Given the description of an element on the screen output the (x, y) to click on. 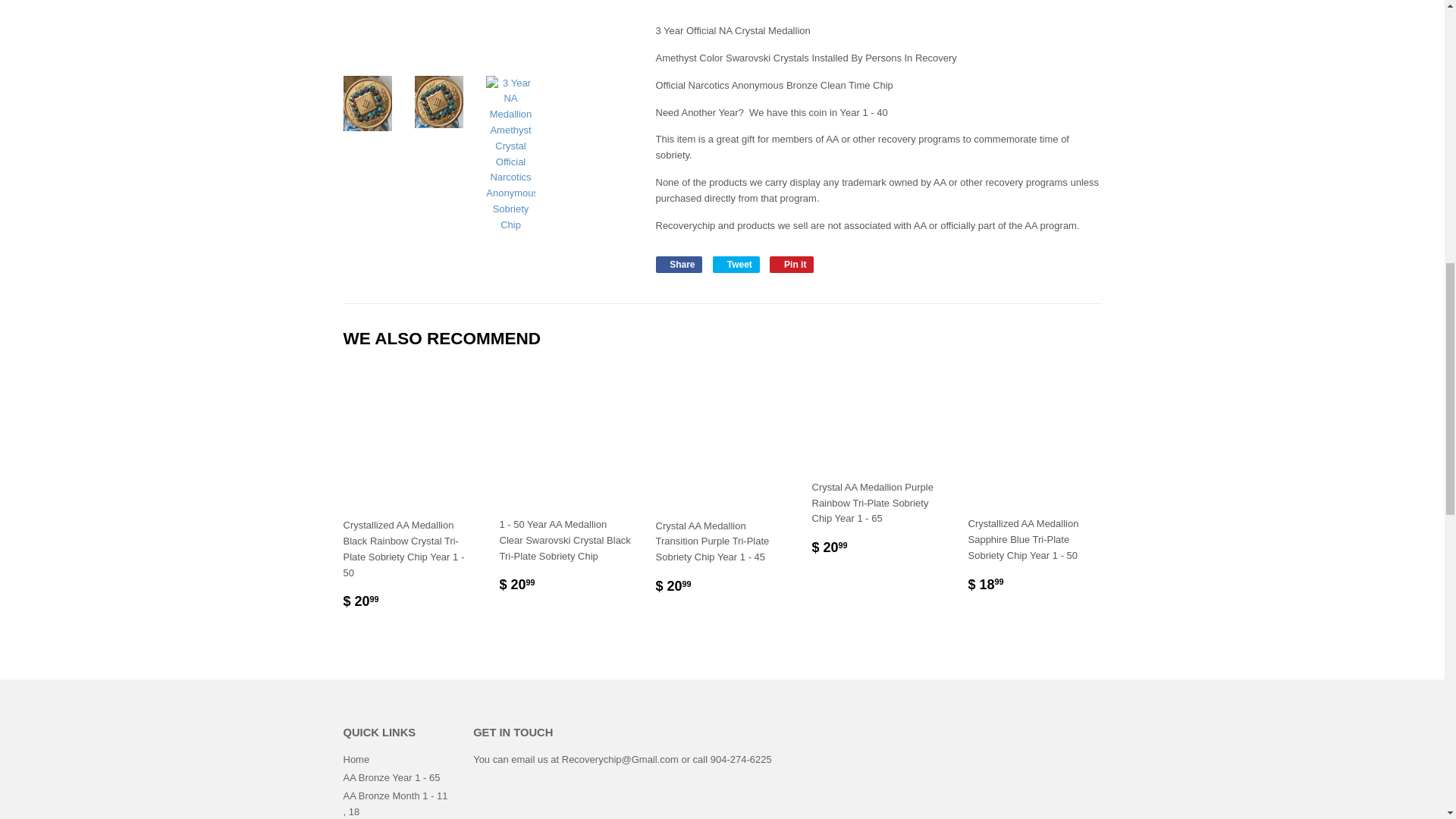
Tweet on Twitter (736, 264)
Pin on Pinterest (791, 264)
Share on Facebook (678, 264)
